Given the description of an element on the screen output the (x, y) to click on. 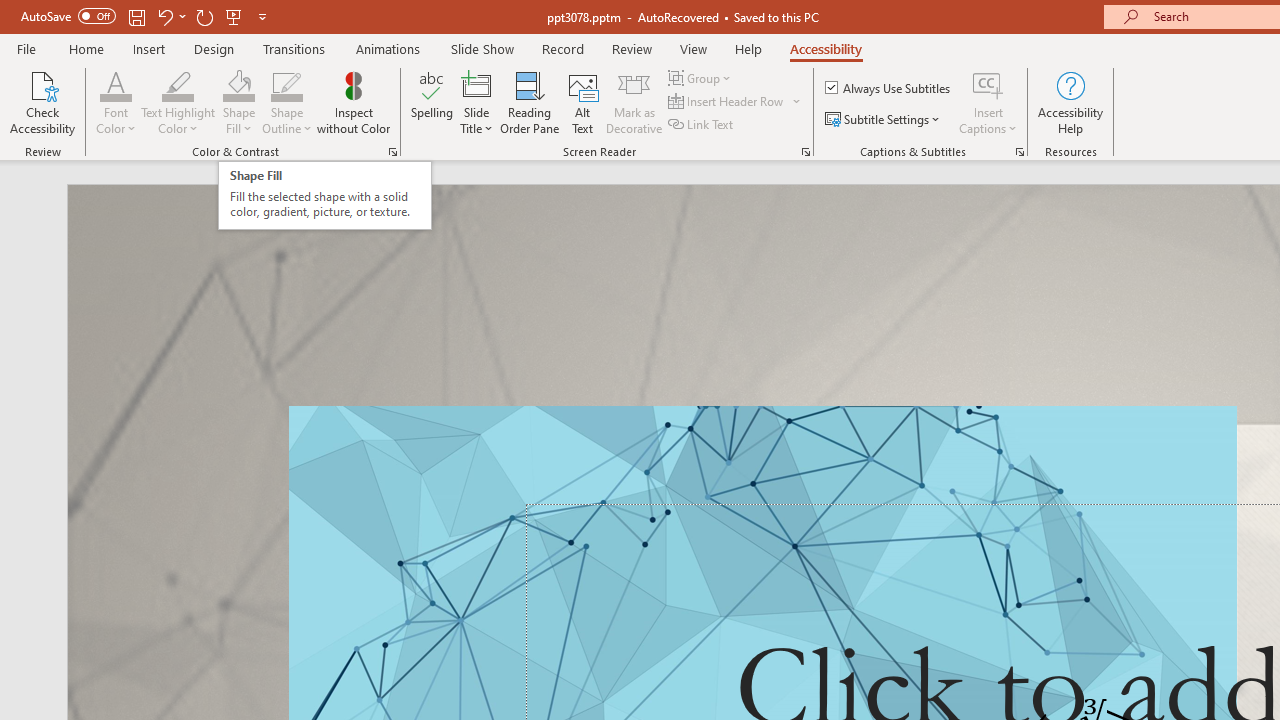
Shape Fill (238, 102)
Reading Order Pane (529, 102)
Color & Contrast (392, 151)
Check Accessibility (42, 102)
Captions & Subtitles (1019, 151)
Text Highlight Color (178, 84)
Slide Title (476, 102)
